Given the description of an element on the screen output the (x, y) to click on. 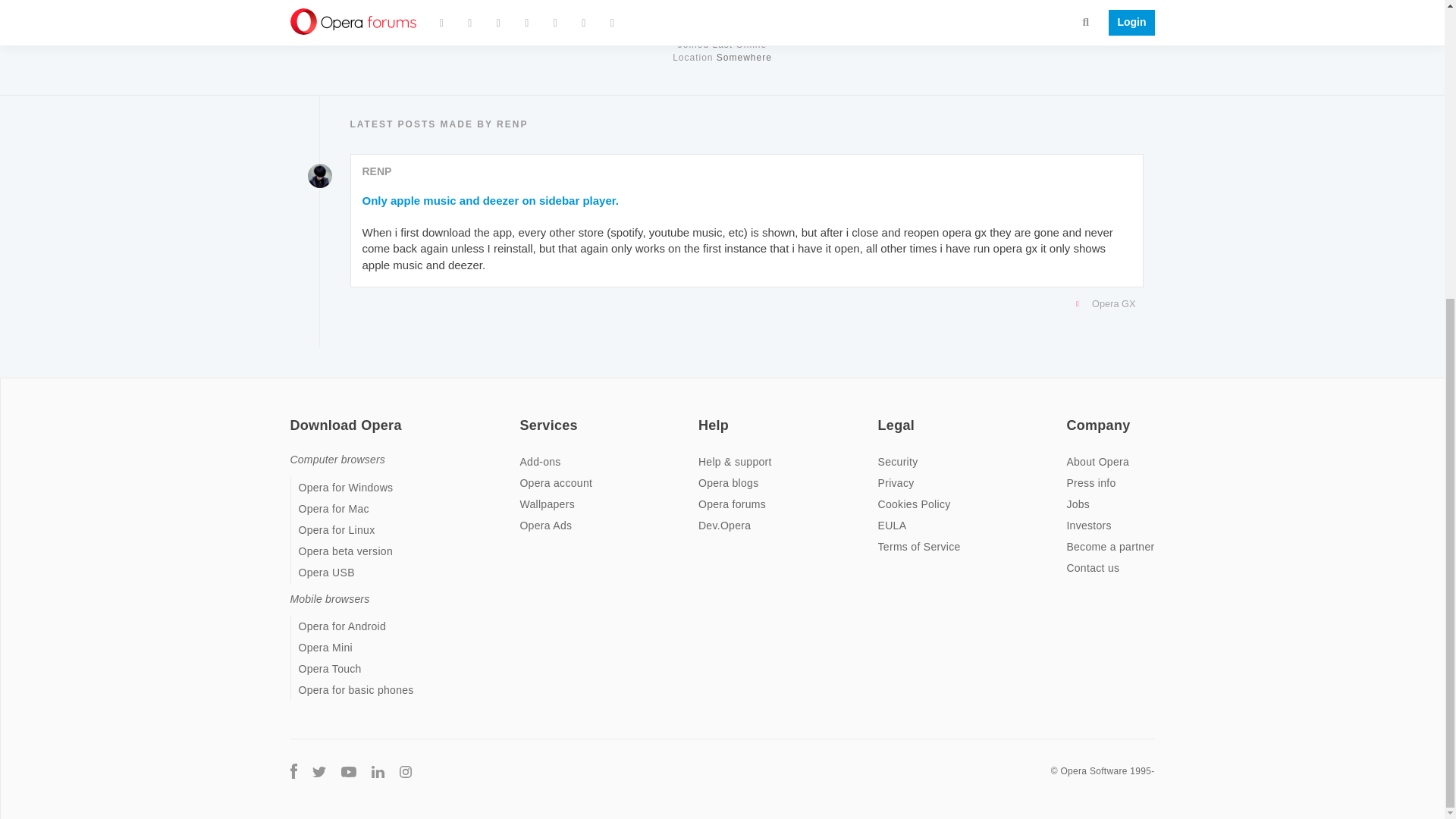
on (293, 415)
Only apple music and deezer on sidebar player. (490, 200)
on (1070, 415)
Opera for Windows (345, 487)
Computer browsers (337, 459)
Opera GX (742, 303)
RENP (376, 171)
on (702, 415)
on (523, 415)
on (881, 415)
